Given the description of an element on the screen output the (x, y) to click on. 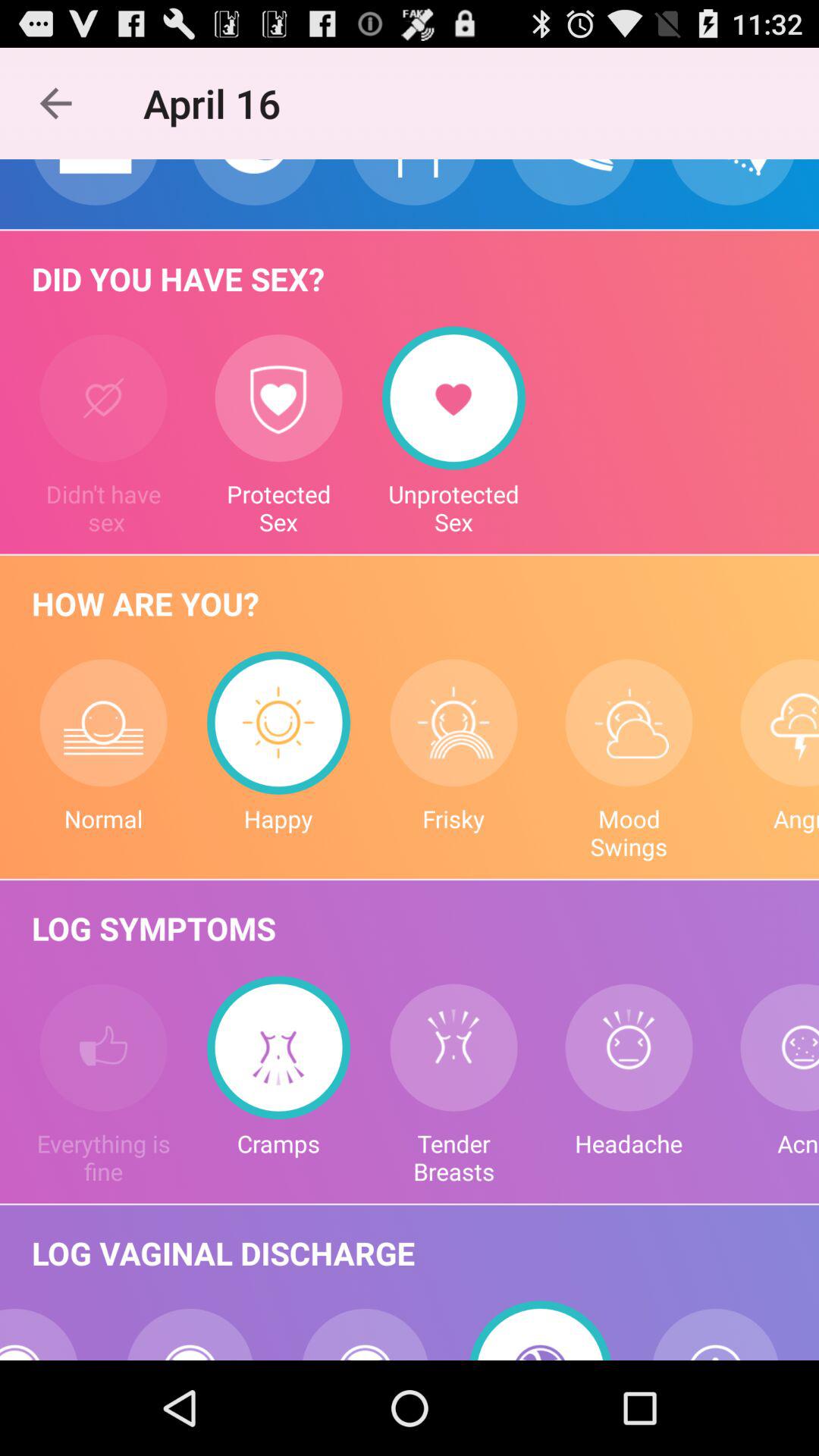
turn on april 16 item (219, 103)
